Given the description of an element on the screen output the (x, y) to click on. 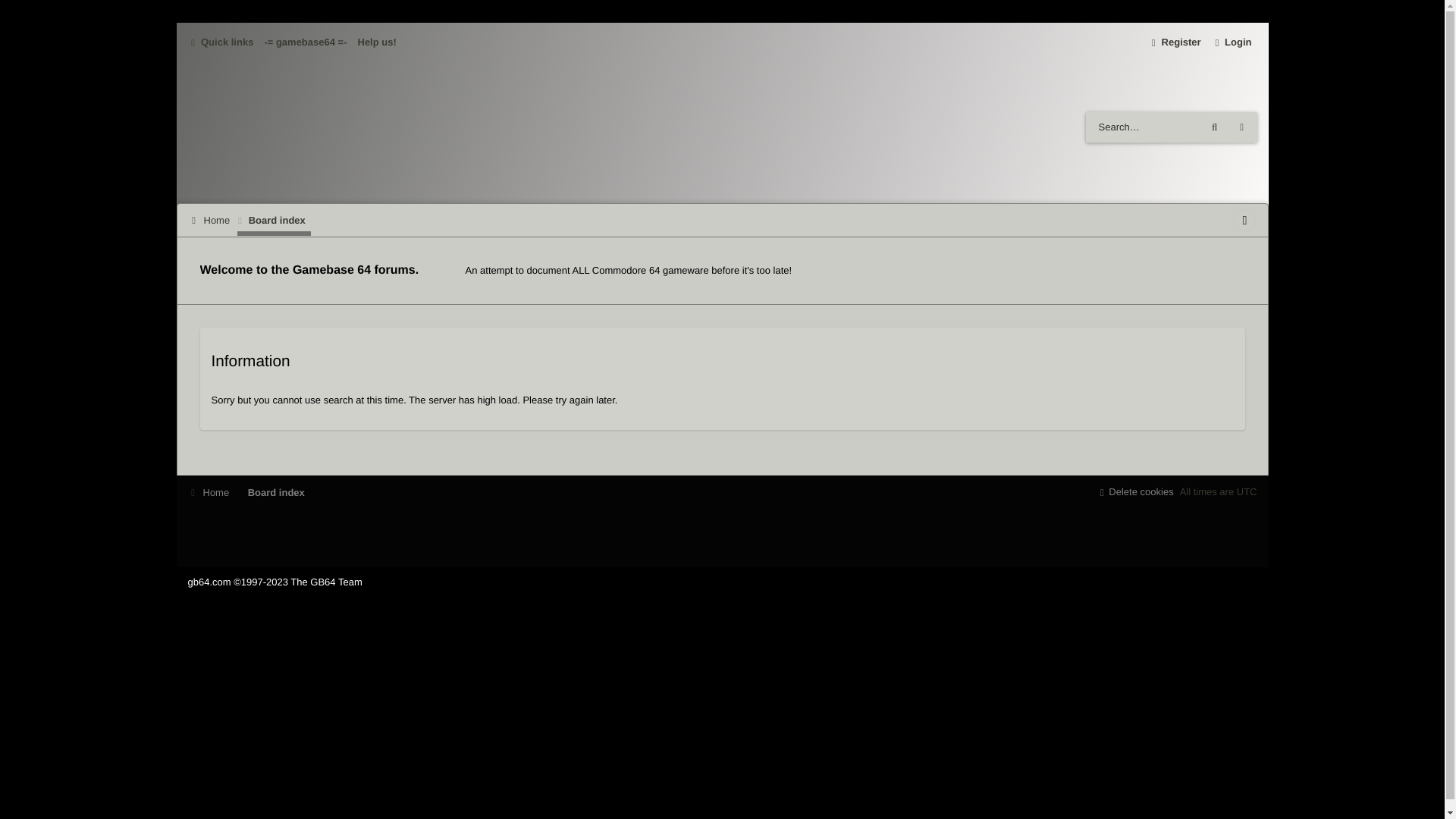
Board index (274, 219)
Advanced search (1241, 126)
Search (1214, 126)
Home (210, 492)
Home (210, 219)
Login (1232, 42)
Welcome to the Gamebase 64 forums. (309, 269)
Delete cookies (1134, 492)
Register (1174, 42)
Login (1232, 42)
Advanced search (1241, 126)
Board index (273, 492)
Help us! (376, 42)
Search (1214, 126)
GameBase 64 Facebook (1244, 220)
